Given the description of an element on the screen output the (x, y) to click on. 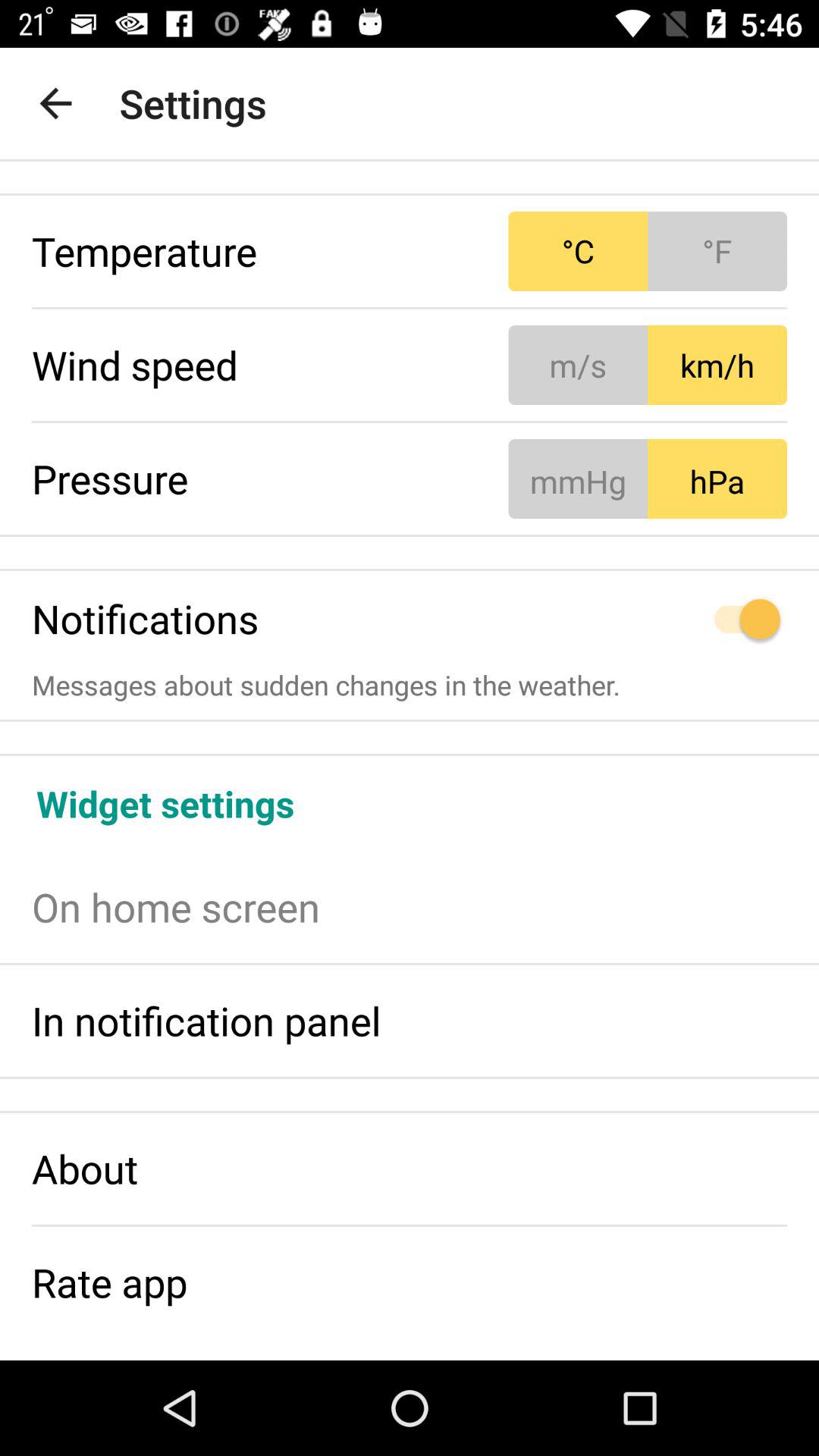
choose the item on the right (647, 618)
